Given the description of an element on the screen output the (x, y) to click on. 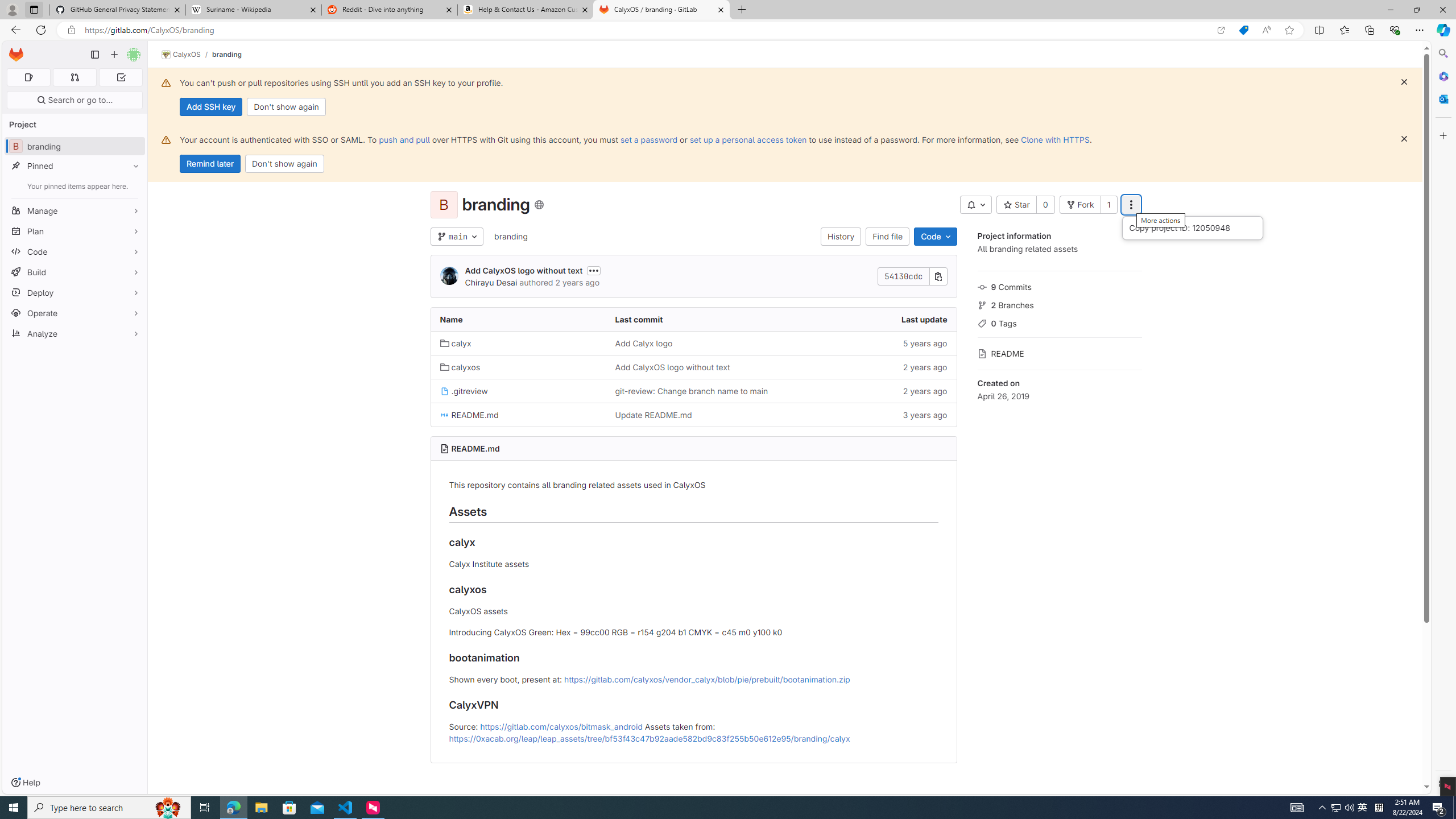
B branding (74, 145)
calyx (455, 342)
Find file (888, 236)
Remind later (210, 163)
Class: s16 icon gl-mr-3 gl-text-gray-500 (981, 353)
Add CalyxOS logo without text (672, 367)
9 Commits (1058, 286)
Dismiss (1403, 138)
0 Tags (1058, 322)
5 years ago (868, 342)
